Given the description of an element on the screen output the (x, y) to click on. 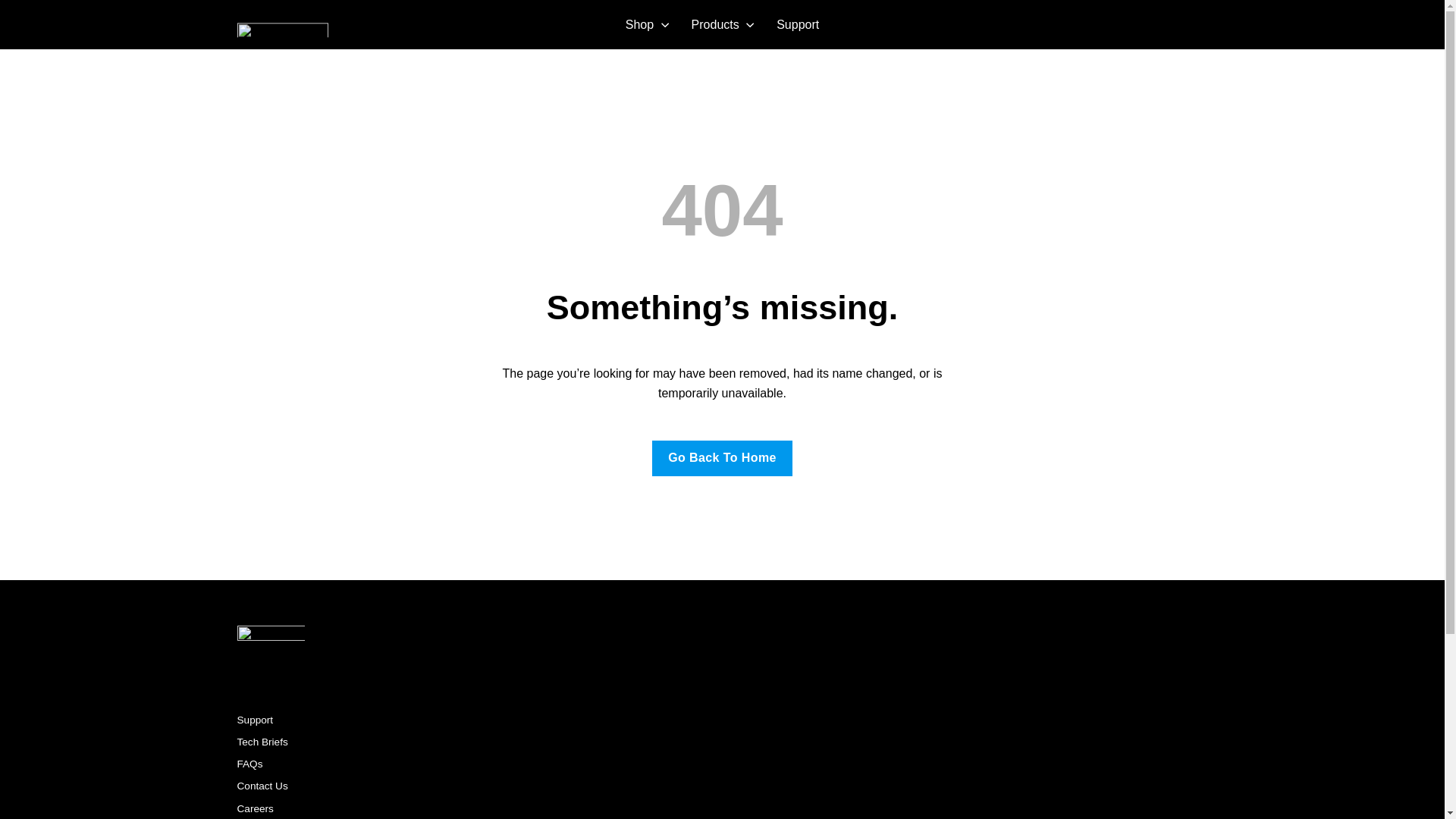
Support (797, 24)
Tech Briefs (260, 741)
Go Back To Home (722, 457)
Support (254, 718)
